Given the description of an element on the screen output the (x, y) to click on. 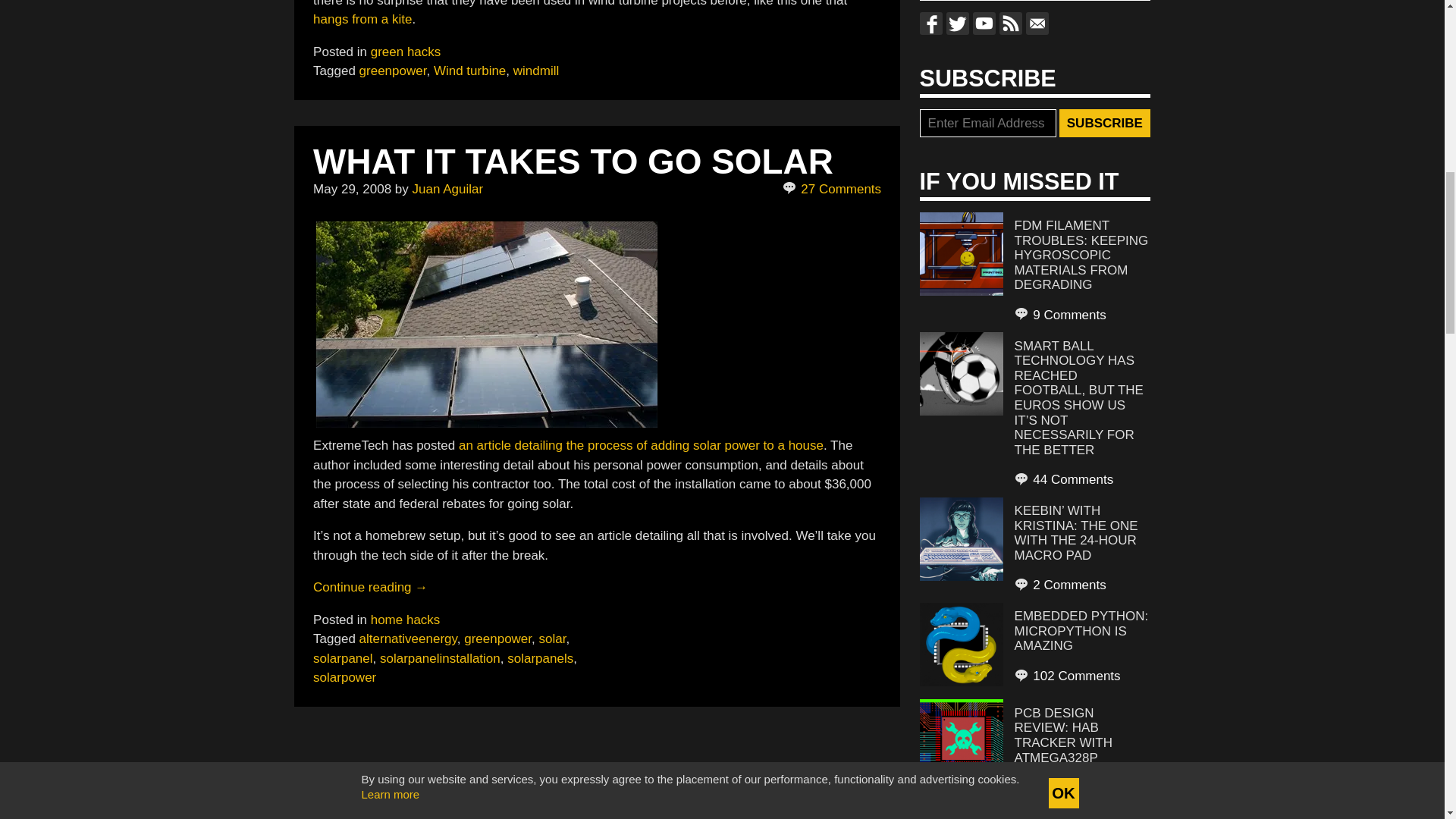
May 29, 2008 - 3:30 pm (352, 188)
Wind turbine (469, 70)
solarpanel (342, 658)
solar (552, 638)
green hacks (406, 51)
Subscribe (1104, 123)
Posts by Juan Aguilar (447, 188)
solarpower (344, 677)
Juan Aguilar (447, 188)
27 Comments (832, 189)
solarpanels (539, 658)
hangs from a kite (362, 19)
alternativeenergy (408, 638)
WHAT IT TAKES TO GO SOLAR (572, 160)
